Given the description of an element on the screen output the (x, y) to click on. 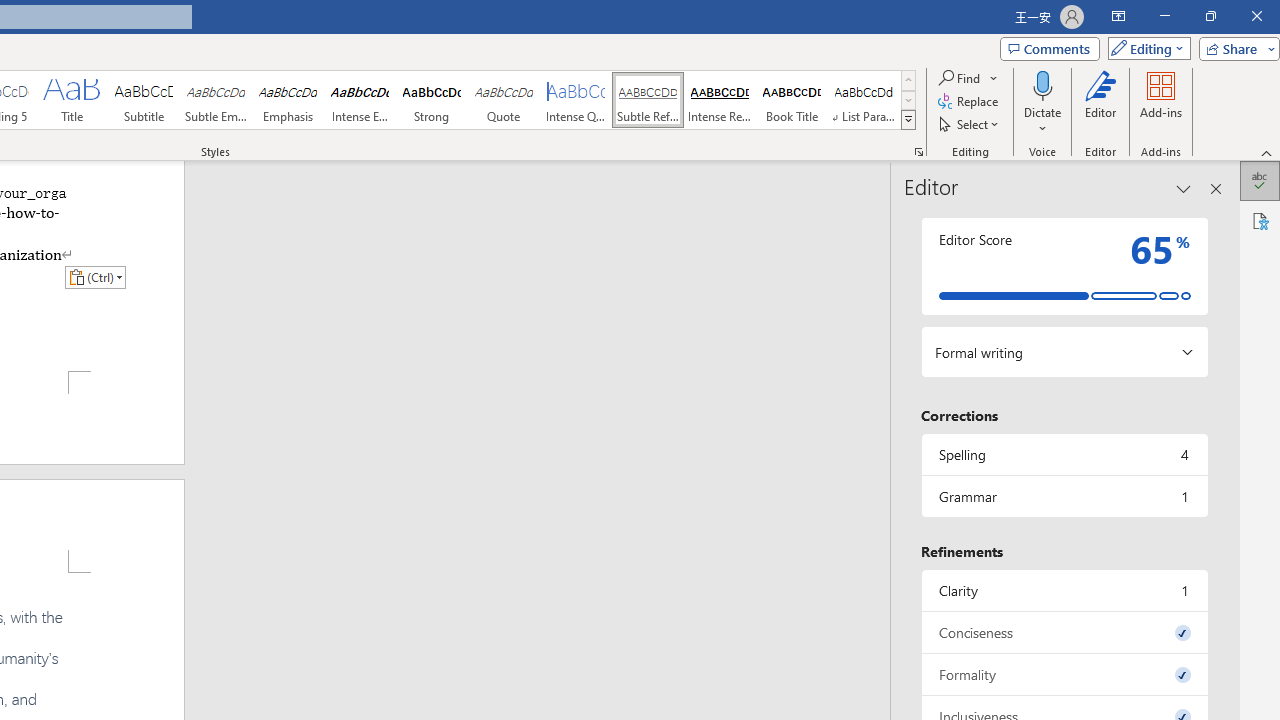
Accessibility (1260, 220)
Subtle Emphasis (216, 100)
